Given the description of an element on the screen output the (x, y) to click on. 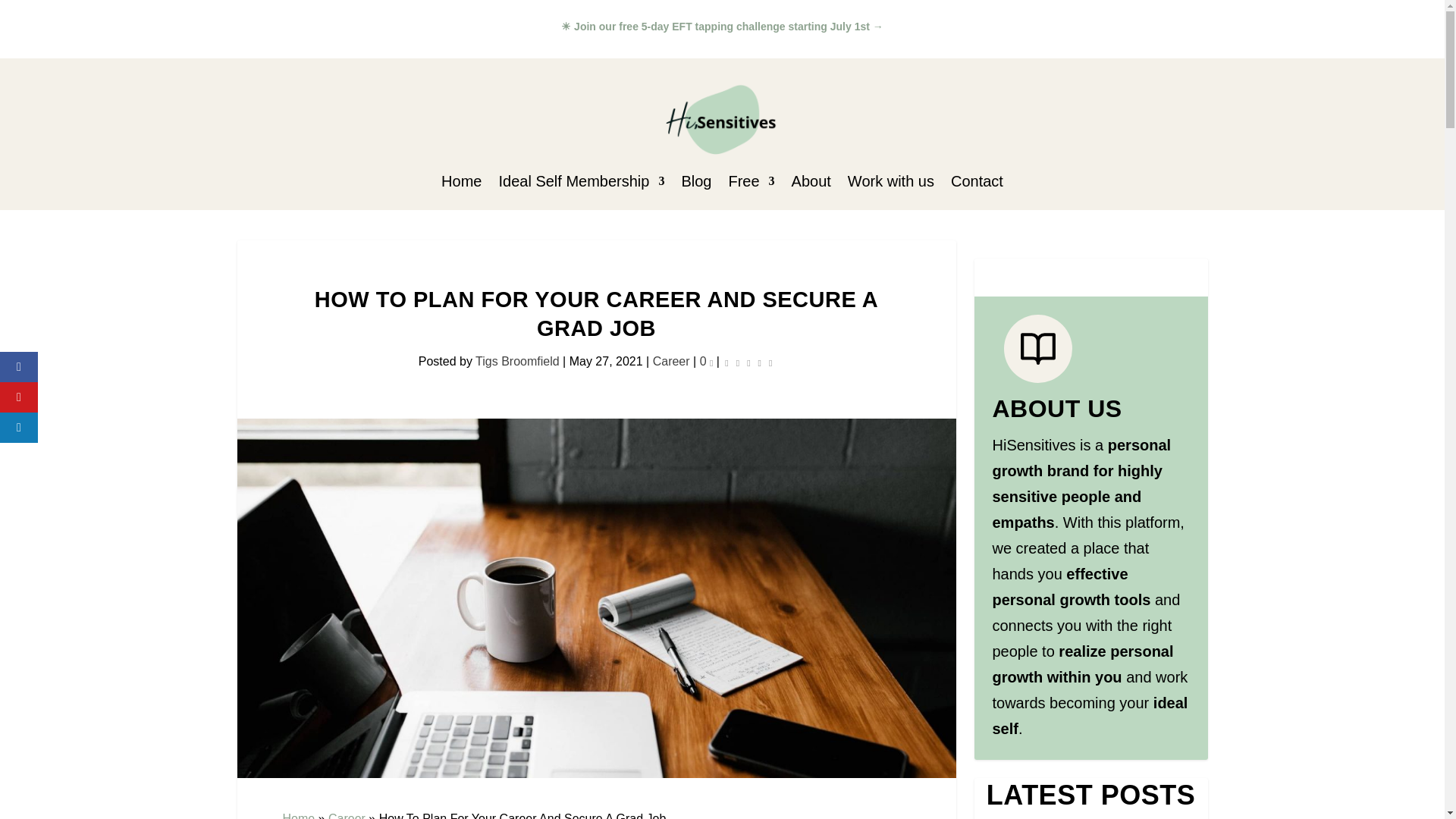
Contact (976, 184)
Blog (696, 184)
Career (347, 815)
Posts by Tigs Broomfield (517, 360)
Career (671, 360)
Rating: 0.00 (748, 362)
Free (751, 184)
Home (461, 184)
Tigs Broomfield (517, 360)
0 (706, 360)
Home (298, 815)
About (811, 184)
Ideal Self Membership (580, 184)
Work with us (890, 184)
